Given the description of an element on the screen output the (x, y) to click on. 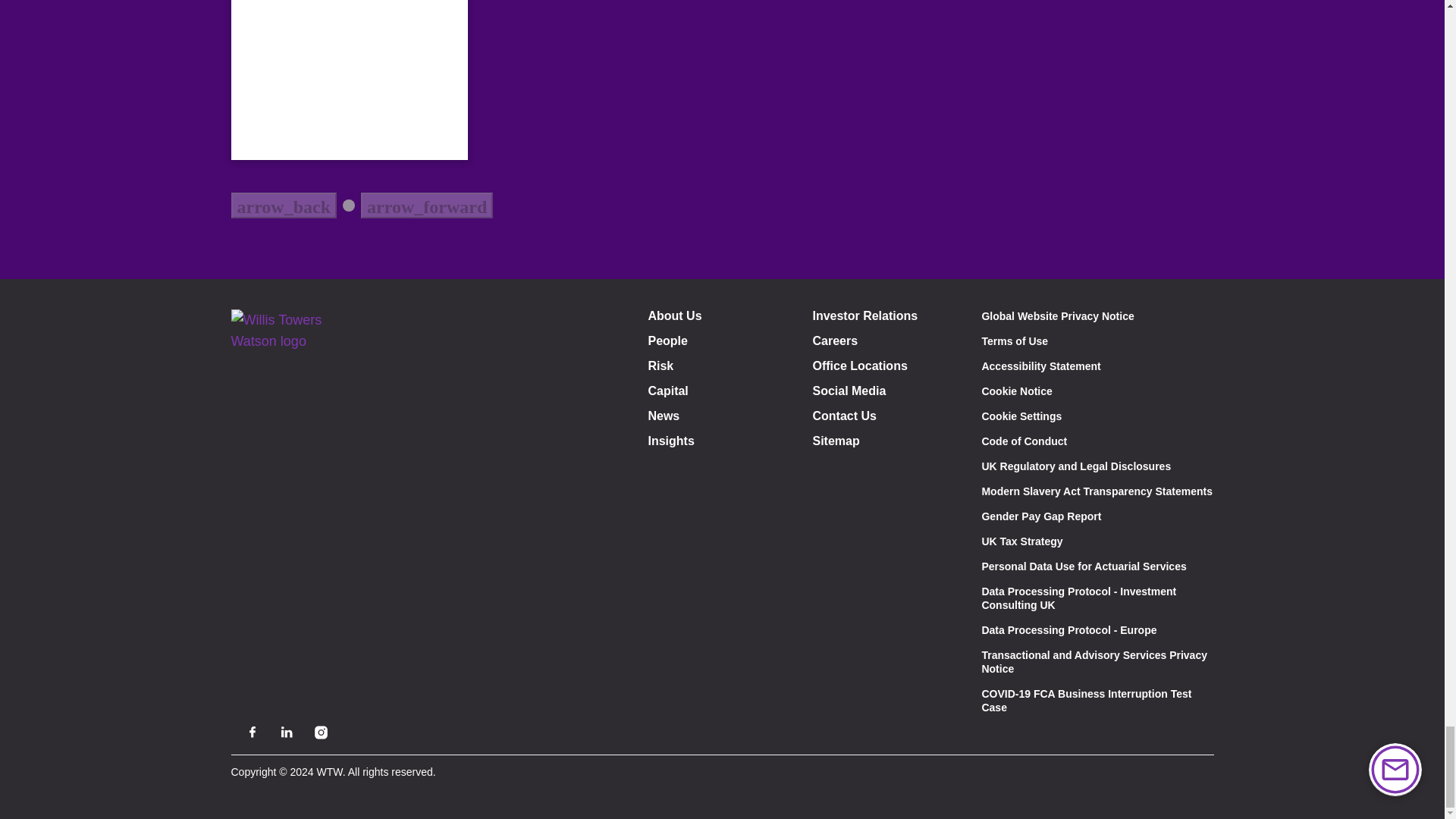
Linkedin (287, 732)
UK Regulatory and Legal Disclosures (1075, 466)
Facebook (252, 732)
Instagram (320, 732)
Transactional and Advisory Services Privacy Notice (1094, 661)
